Given the description of an element on the screen output the (x, y) to click on. 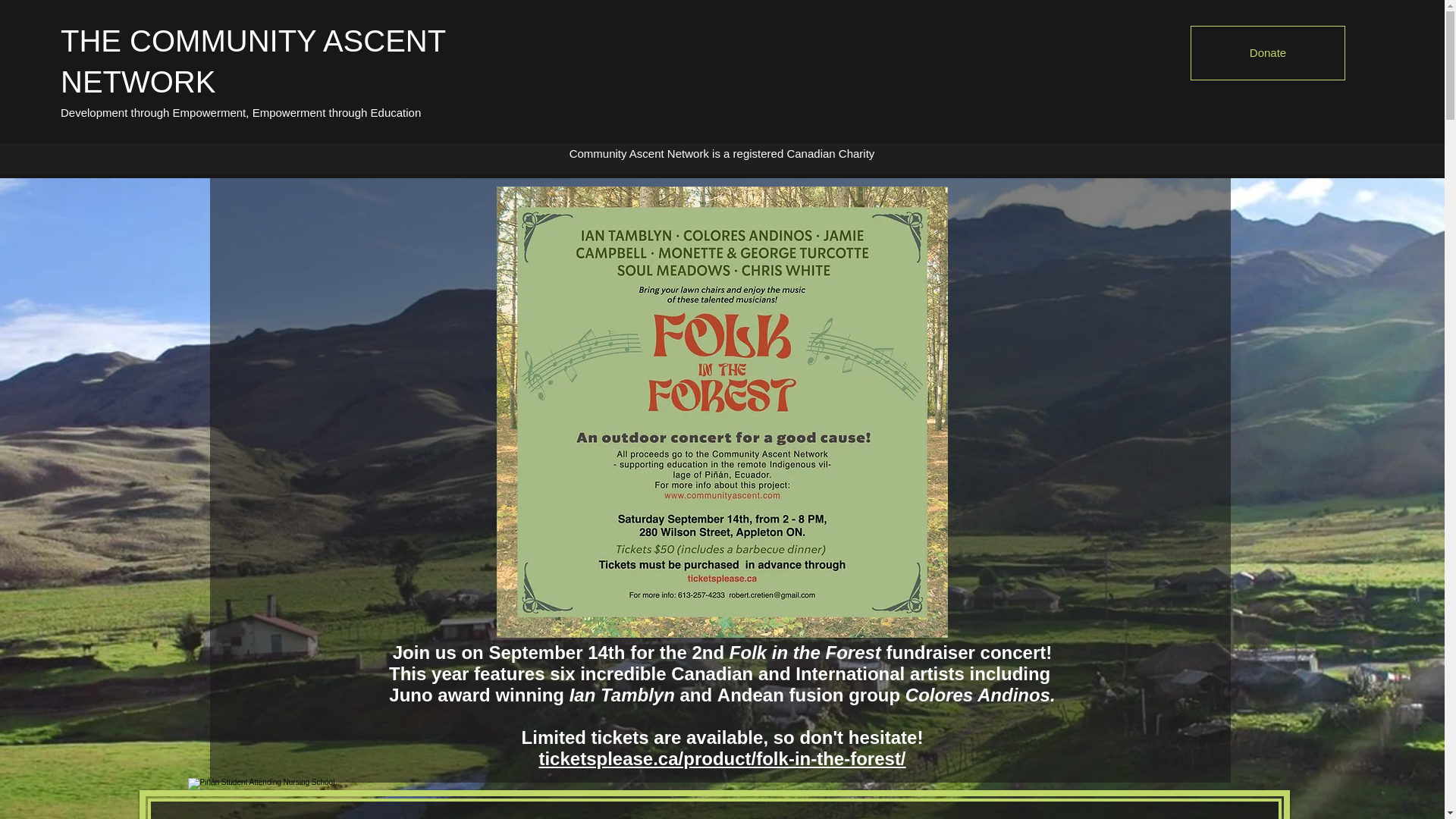
Donate (1268, 52)
Alely, Dayana, Heylin Nursing Aux. program.jpg (325, 798)
THE COMMUNITY ASCENT NETWORK (253, 61)
